Given the description of an element on the screen output the (x, y) to click on. 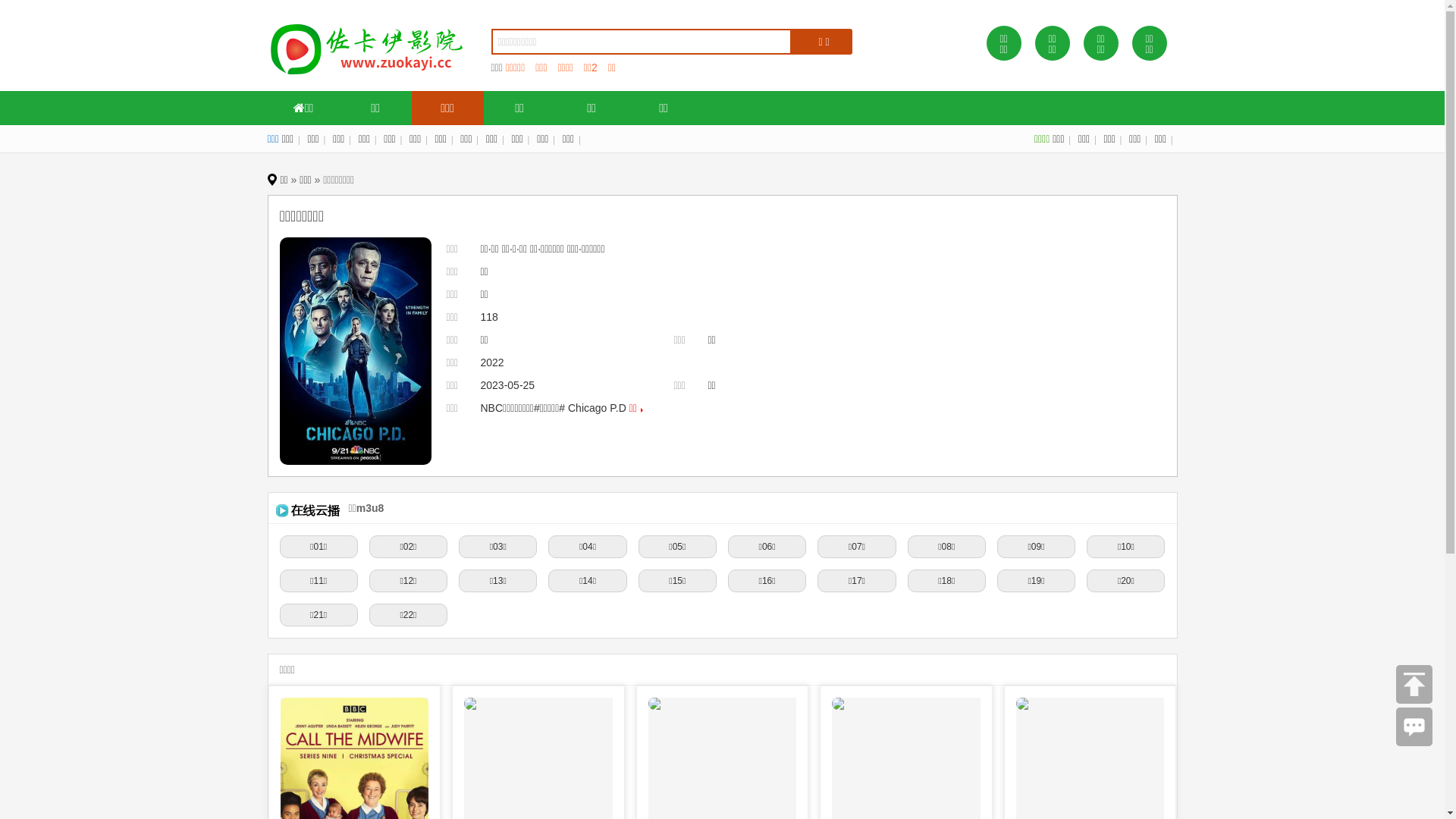
2022 Element type: text (492, 362)
